Given the description of an element on the screen output the (x, y) to click on. 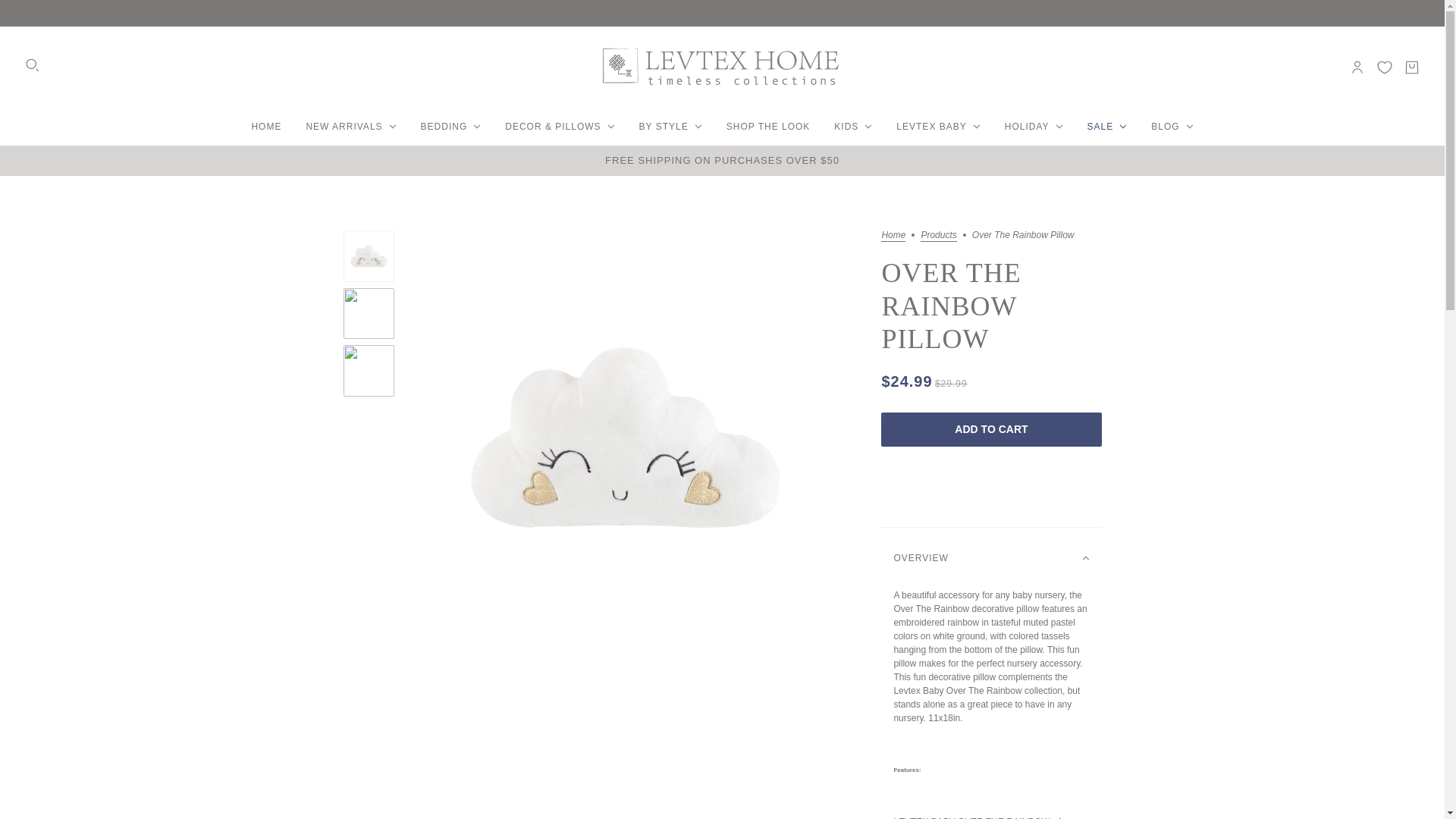
BY STYLE (670, 126)
BEDDING (451, 126)
NEW ARRIVALS (350, 126)
Levtex Home (721, 66)
HOME (266, 126)
